Given the description of an element on the screen output the (x, y) to click on. 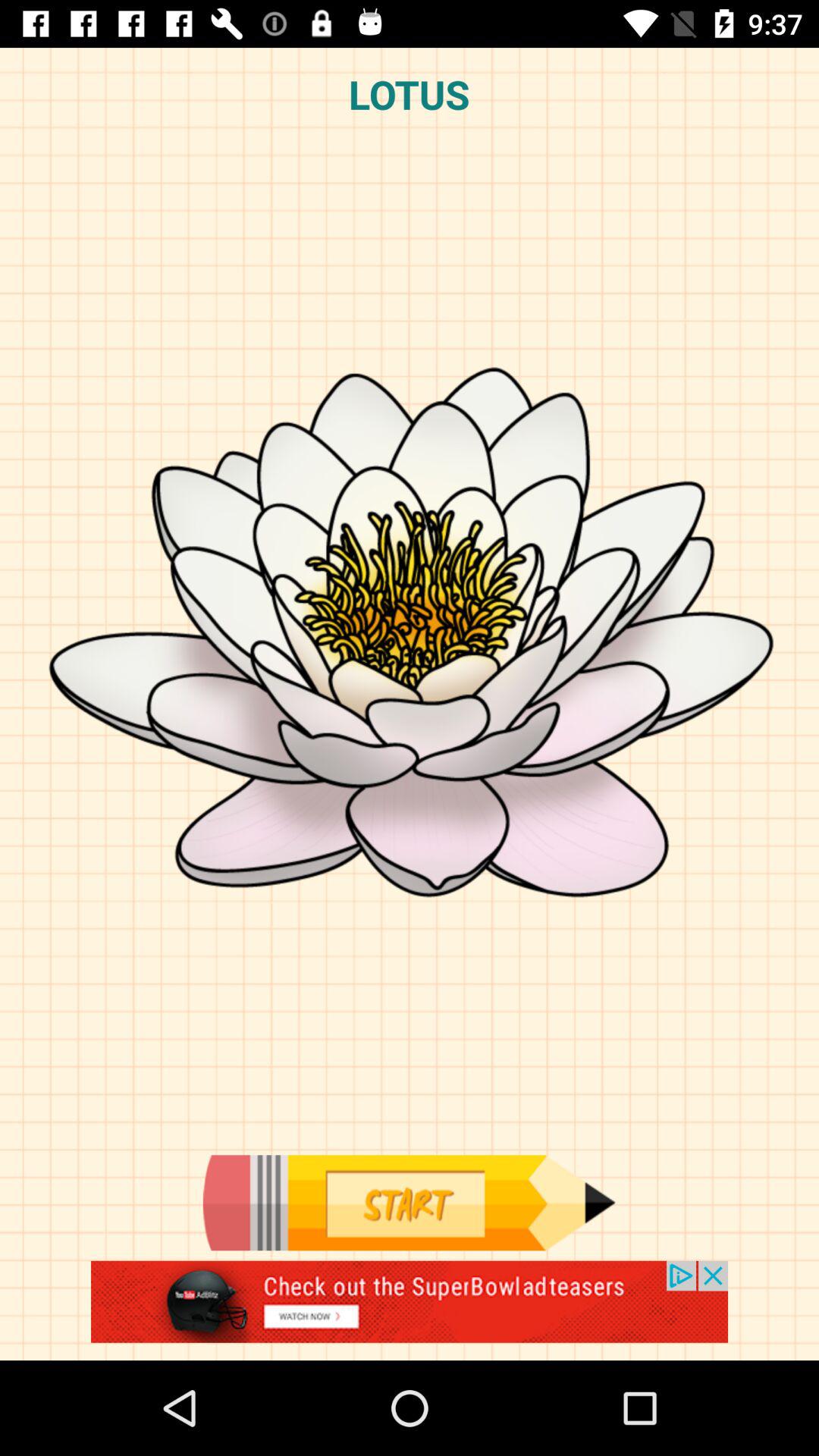
start game (409, 1202)
